Given the description of an element on the screen output the (x, y) to click on. 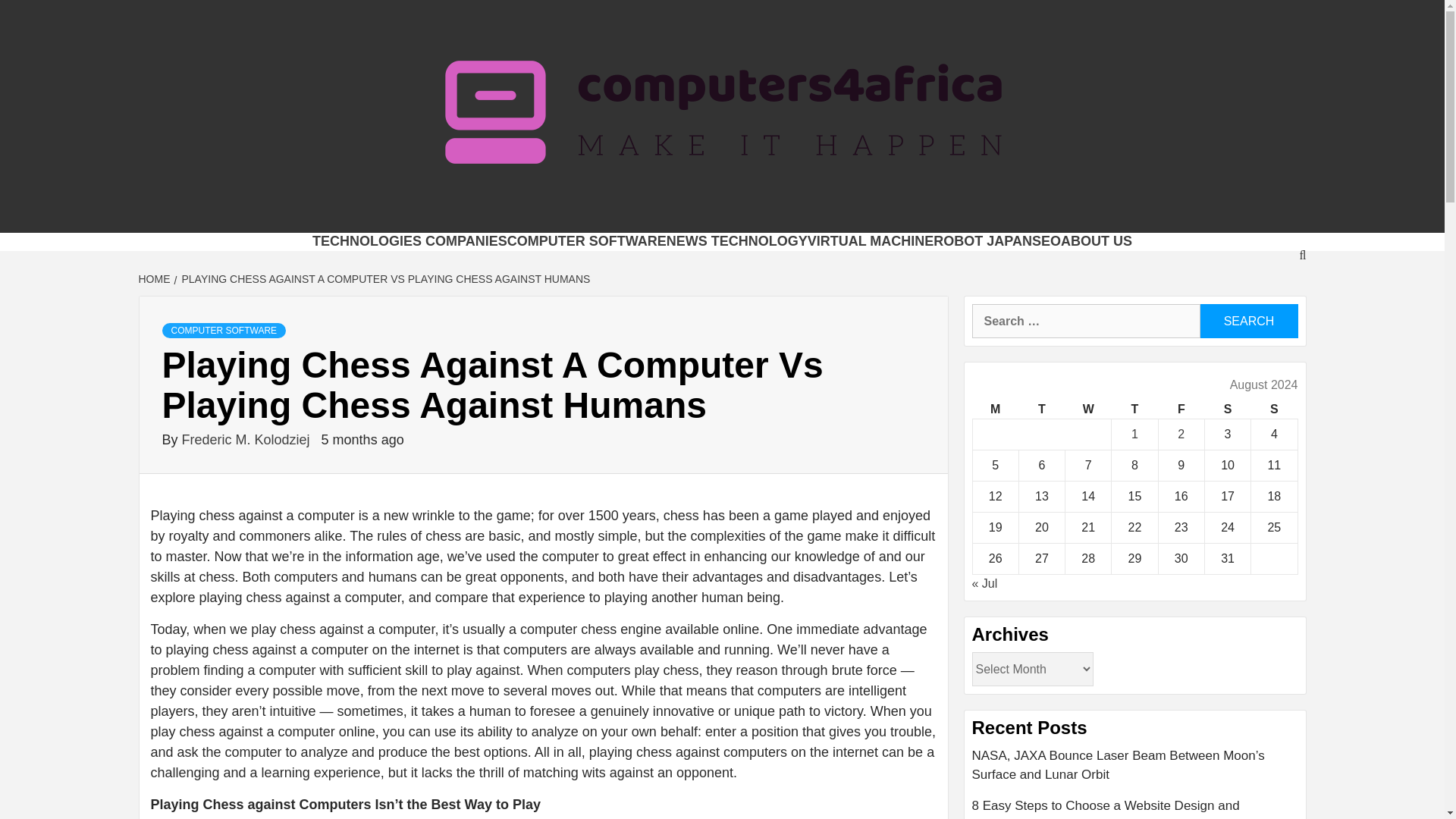
COMPUTER S4AFRICA (558, 213)
ROBOT JAPAN (982, 240)
VIRTUAL MACHINE (871, 240)
TECHNOLOGIES COMPANIES (409, 240)
NEWS TECHNOLOGY (737, 240)
Saturday (1227, 409)
ABOUT US (1096, 240)
COMPUTER SOFTWARE (223, 330)
Frederic M. Kolodziej (248, 439)
Wednesday (1088, 409)
Search (1248, 320)
Monday (994, 409)
COMPUTER SOFTWARE (586, 240)
Sunday (1273, 409)
